Given the description of an element on the screen output the (x, y) to click on. 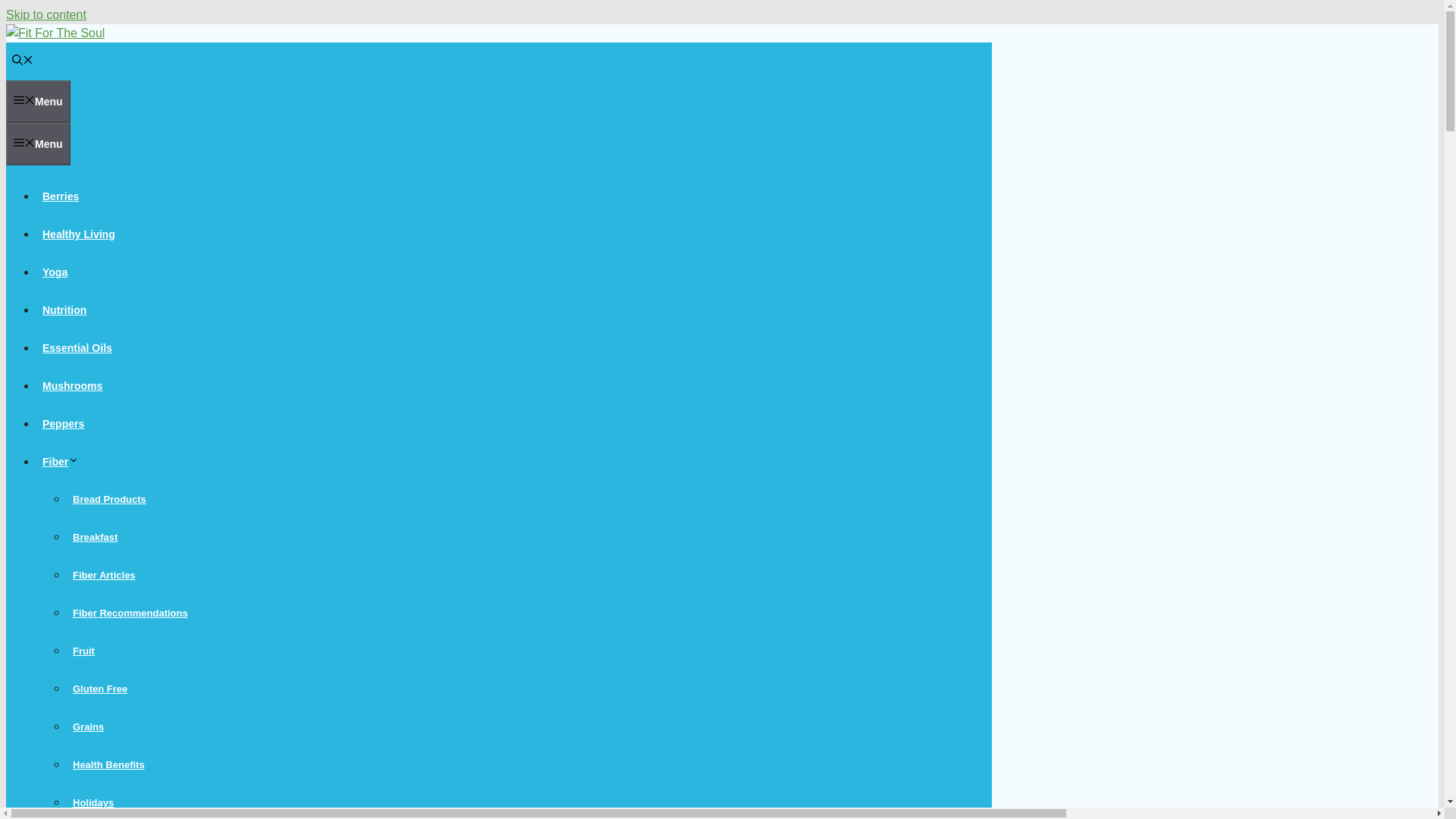
Essential Oils (76, 347)
Nutrition (64, 309)
Fiber Articles (103, 574)
Healthy Living (78, 234)
Holidays (92, 802)
Fiber Recommendations (129, 612)
Fruit (83, 651)
Skip to content (45, 14)
Skip to content (45, 14)
Yoga (55, 272)
Health Benefits (108, 764)
Gluten Free (99, 688)
Berries (60, 196)
Mushrooms (71, 386)
Menu (37, 143)
